Given the description of an element on the screen output the (x, y) to click on. 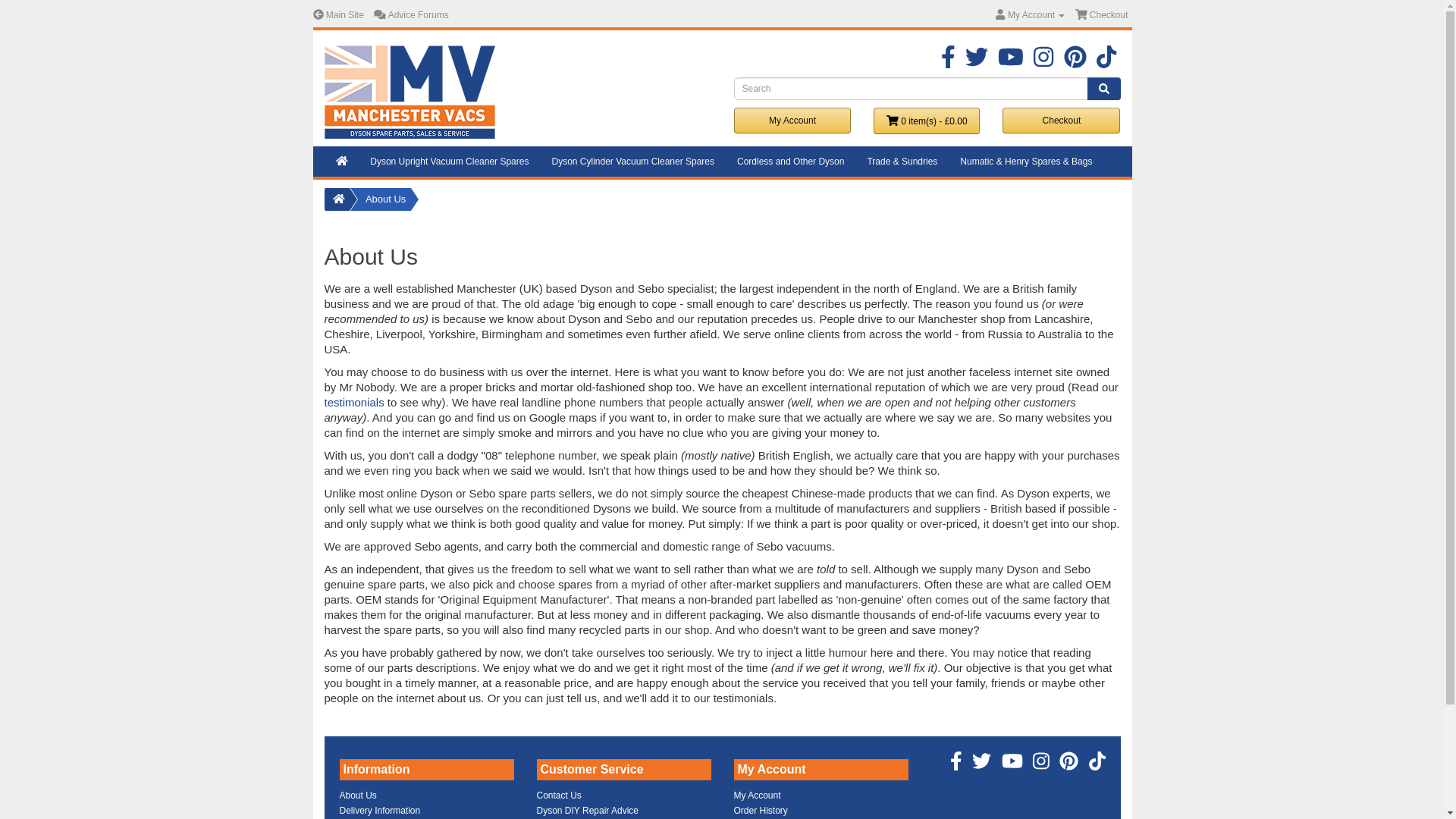
Manchester Vacs (409, 91)
Main Site (337, 14)
Checkout (1101, 14)
My Account (1029, 14)
Advice Forums (411, 14)
Dyson Cylinder Vacuum Cleaner Spares (632, 161)
My Account (792, 120)
Checkout (1101, 14)
My Account (1029, 14)
Checkout (1061, 120)
